Given the description of an element on the screen output the (x, y) to click on. 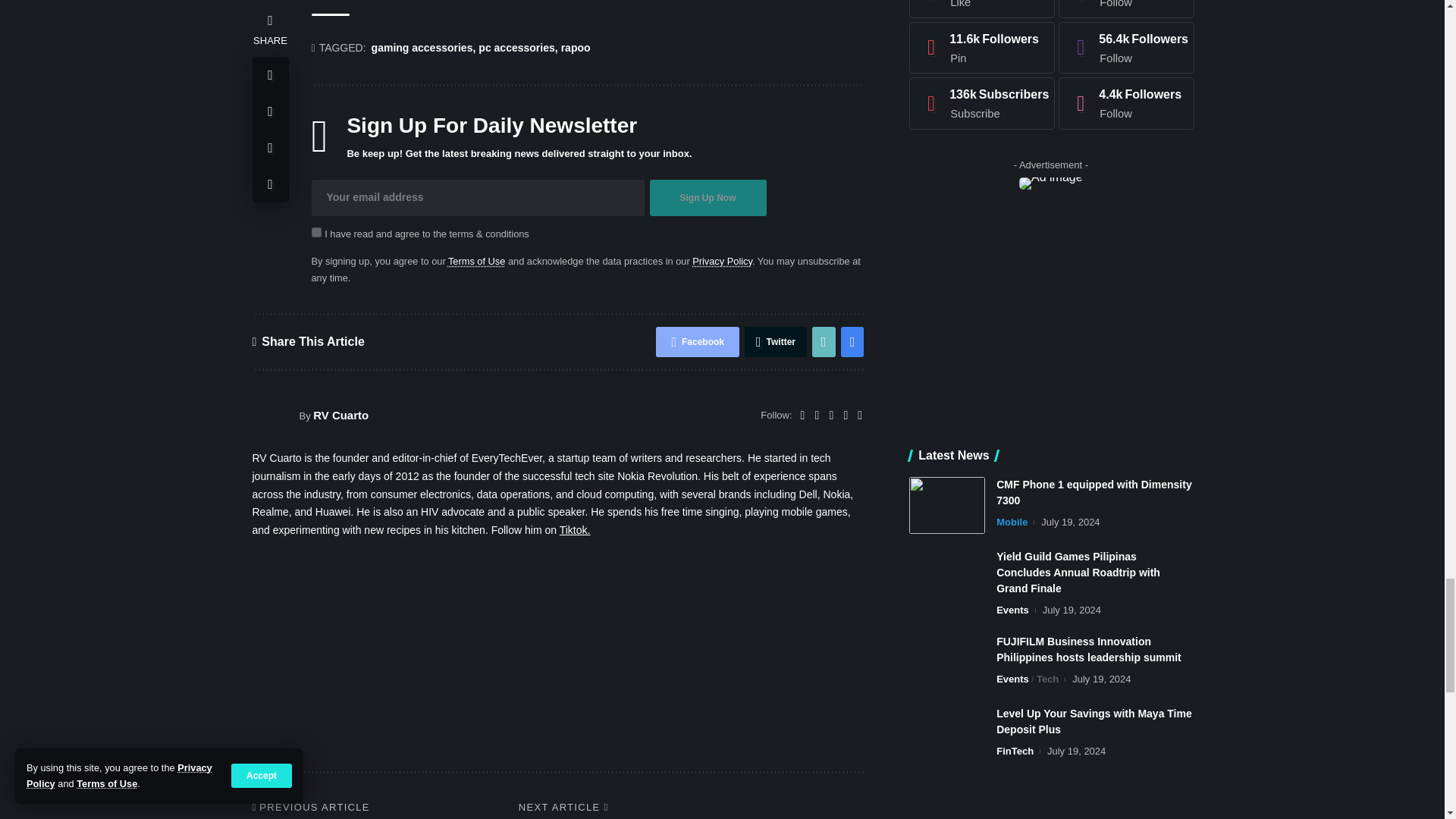
1 (315, 232)
Sign Up Now (707, 197)
